Given the description of an element on the screen output the (x, y) to click on. 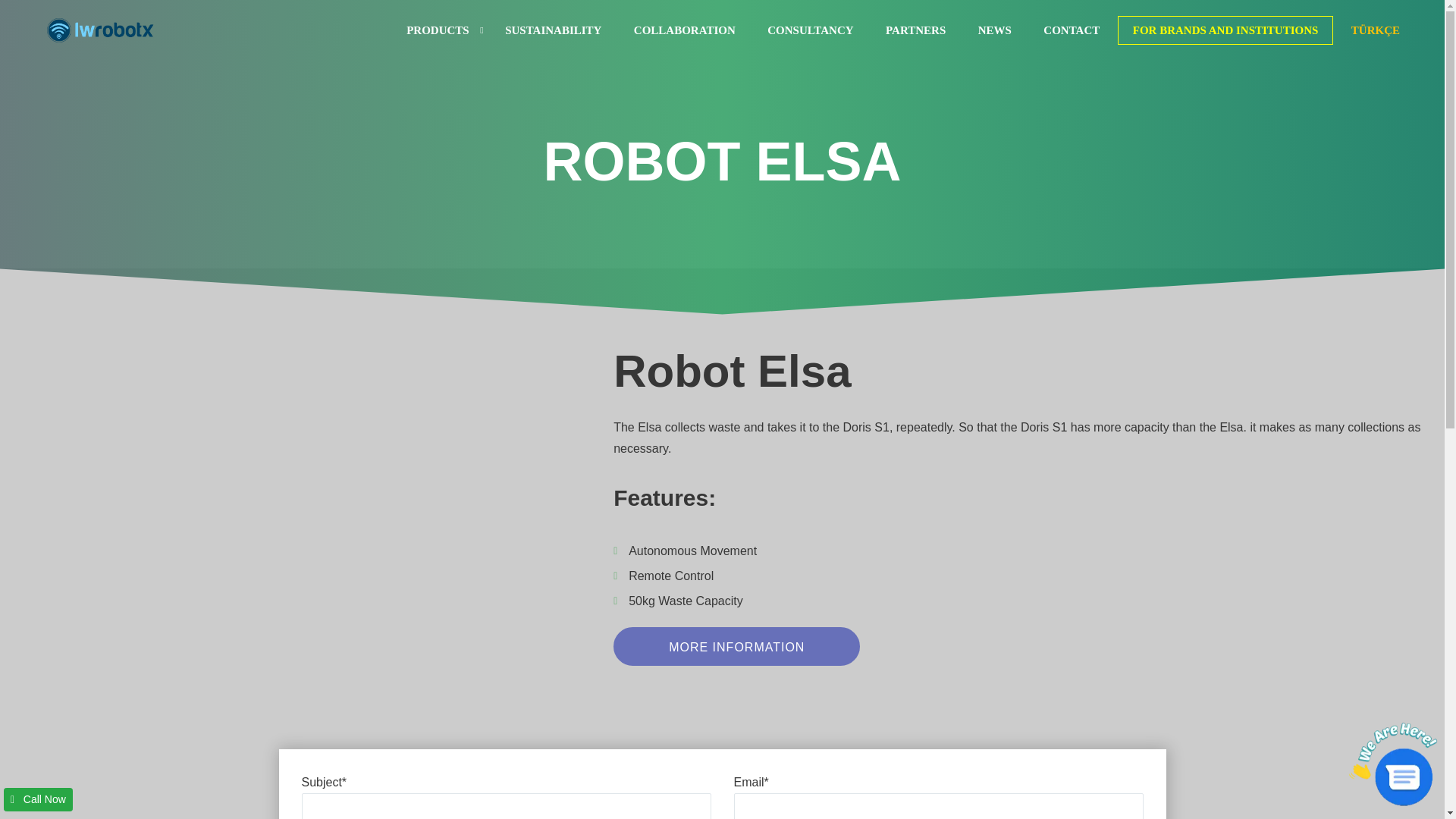
NEWS (994, 30)
PARTNERS (914, 30)
FOR BRANDS AND INSTITUTIONS (1225, 30)
PRODUCTS (437, 30)
CONTACT (1071, 30)
SUSTAINABILITY (552, 30)
COLLABORATION (684, 30)
CONSULTANCY (809, 30)
  Call Now (38, 799)
MORE INFORMATION (736, 646)
